Given the description of an element on the screen output the (x, y) to click on. 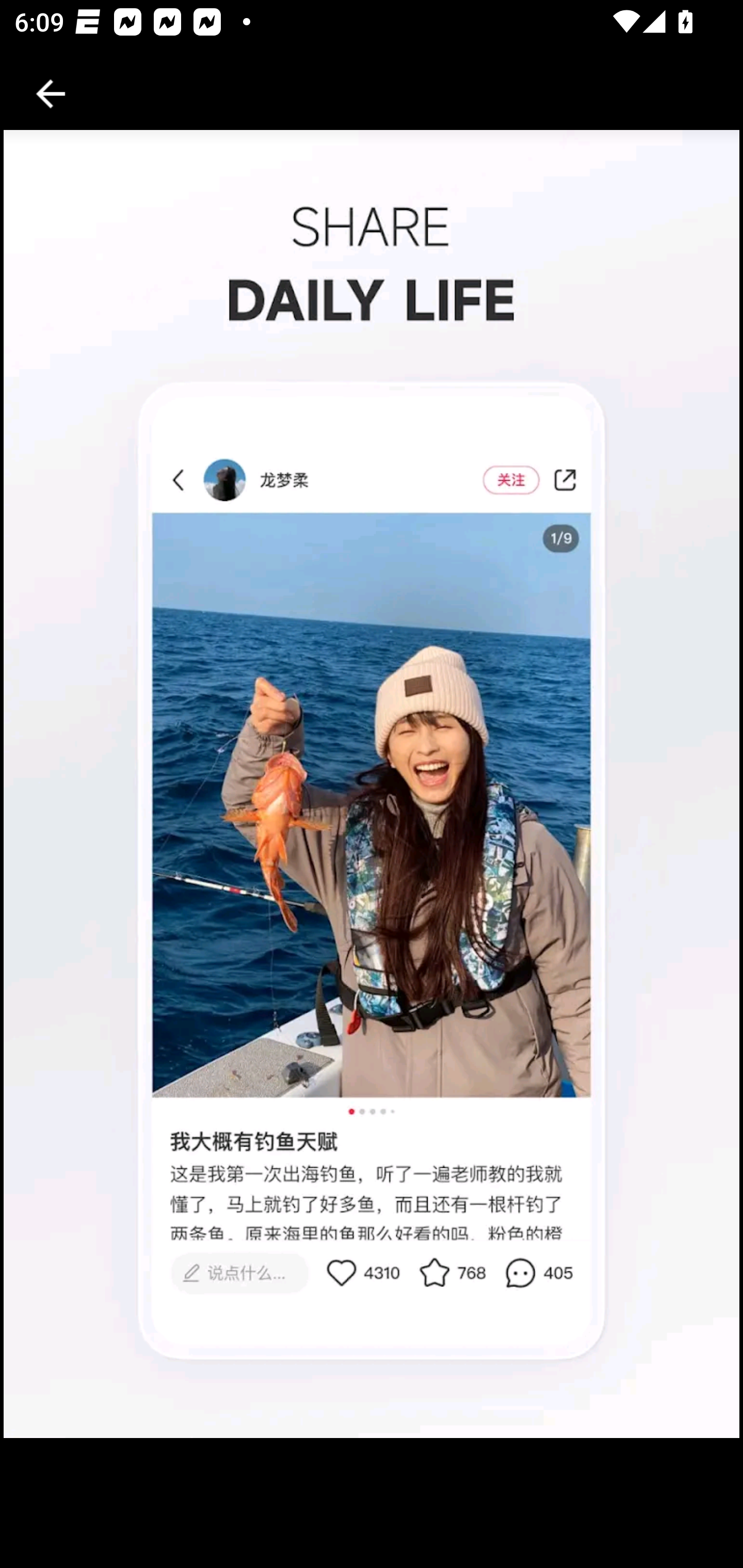
Back (50, 93)
